Given the description of an element on the screen output the (x, y) to click on. 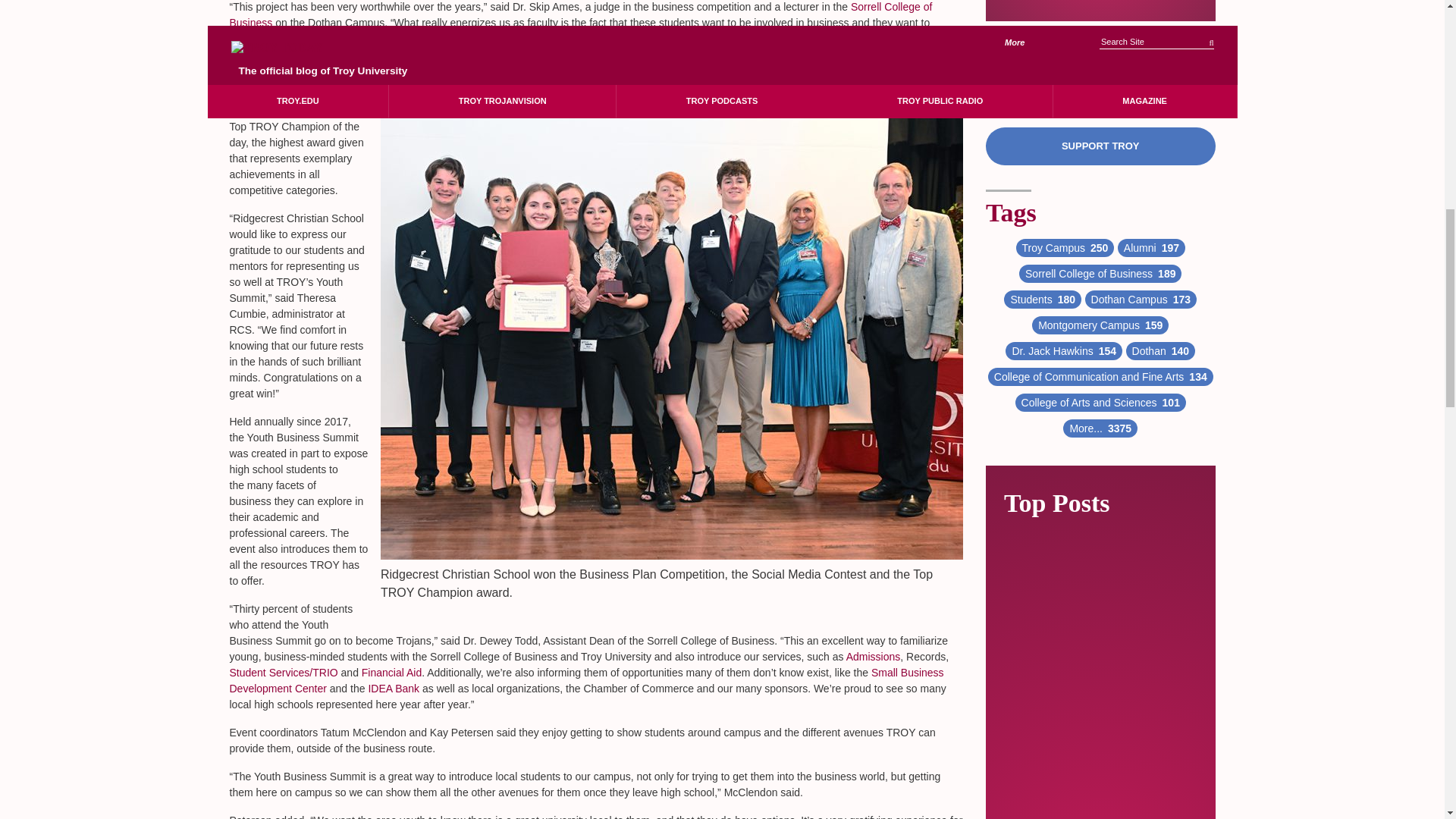
Financial Aid (391, 672)
Sorrell College of Business (579, 14)
IDEA Bank (393, 688)
Small Business Development Center (585, 680)
Admissions (873, 656)
